Given the description of an element on the screen output the (x, y) to click on. 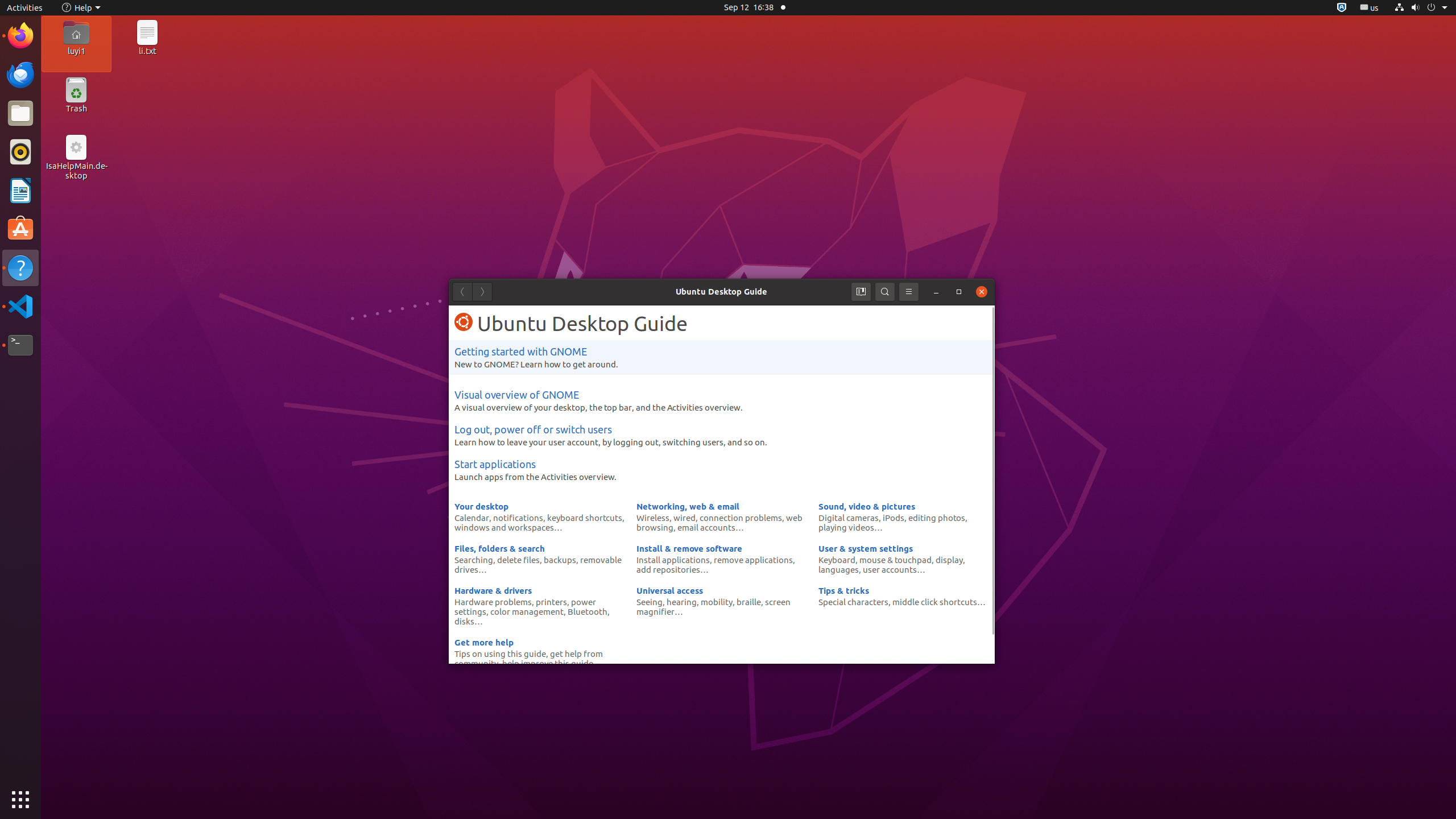
languages Element type: link (838, 569)
playing videos Element type: link (846, 527)
backups Element type: link (559, 559)
Close Element type: push-button (981, 291)
Get more help Element type: link (483, 642)
